Given the description of an element on the screen output the (x, y) to click on. 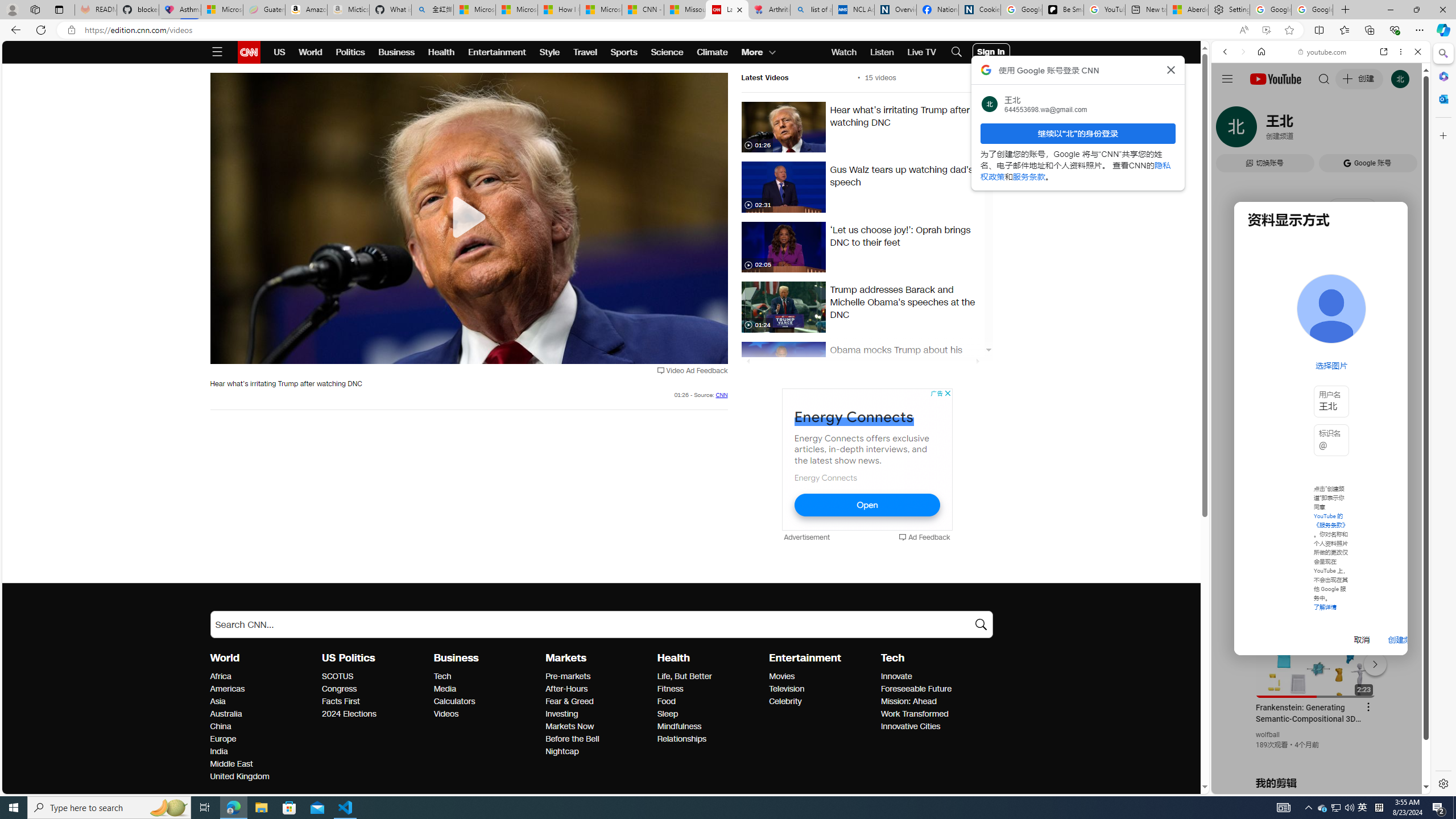
Television (820, 688)
User Account Log In Button (991, 52)
Mindfulness (709, 726)
still_20892817_44674.66_still.jpg (783, 246)
Investing (598, 714)
wolfball (1268, 734)
Class: icon-sig-video (748, 325)
World United Kingdom (239, 776)
Enhance video (1266, 29)
Tech Work Transformed (914, 713)
Click to scroll right (1407, 456)
